Given the description of an element on the screen output the (x, y) to click on. 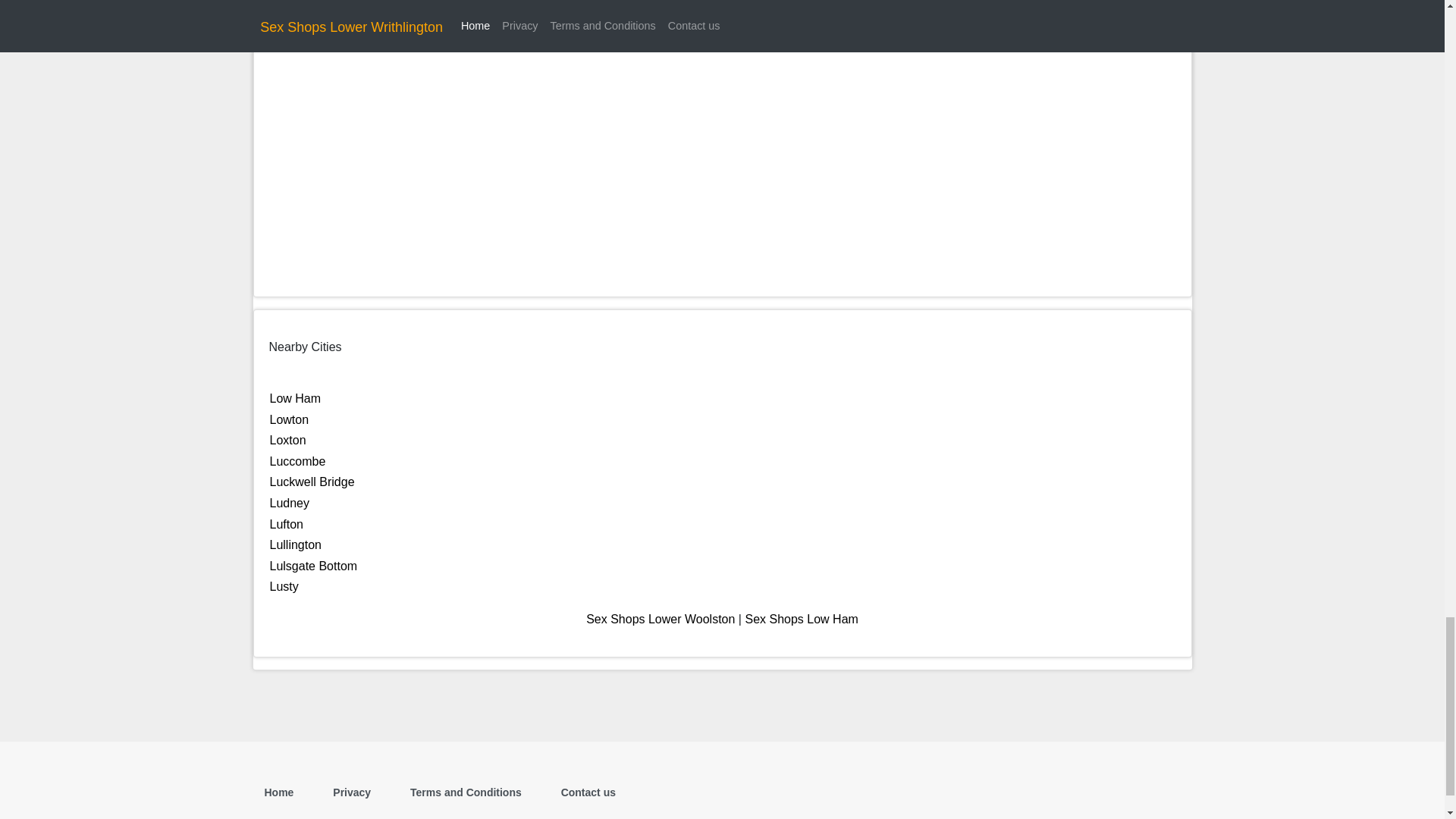
Luckwell Bridge (312, 481)
Lufton (285, 523)
Sex Shops Lower Woolston (660, 618)
Ludney (289, 502)
Sex Shops Low Ham (800, 618)
Loxton (287, 440)
Lusty (283, 585)
Lulsgate Bottom (313, 565)
Luccombe (297, 461)
Lullington (295, 544)
Low Ham (295, 398)
Lowton (288, 419)
